Given the description of an element on the screen output the (x, y) to click on. 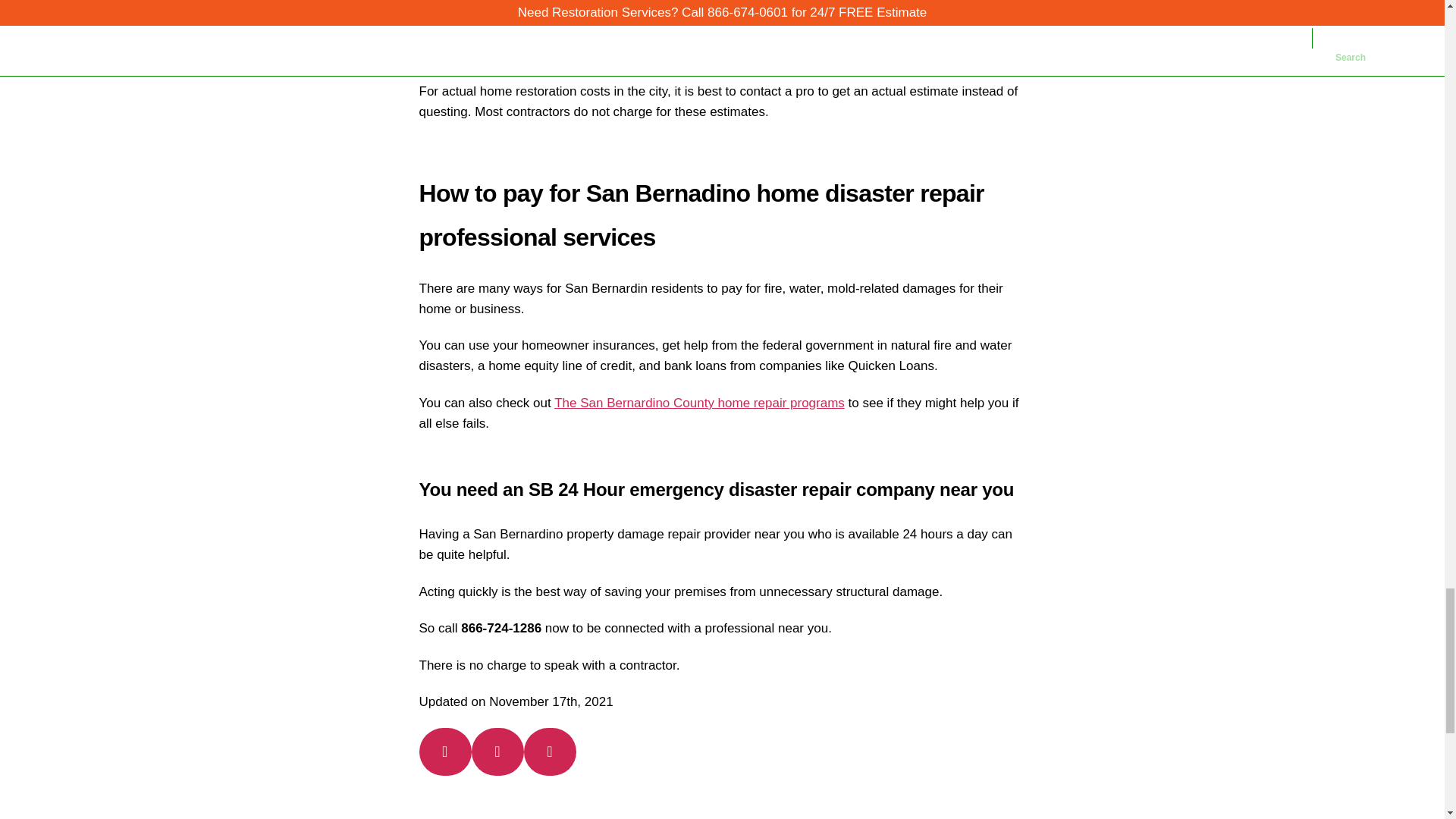
The San Bernardino County home repair programs (699, 402)
SHARE ON FACEBOOK (497, 751)
SHARE ON REDDIT (550, 751)
